Given the description of an element on the screen output the (x, y) to click on. 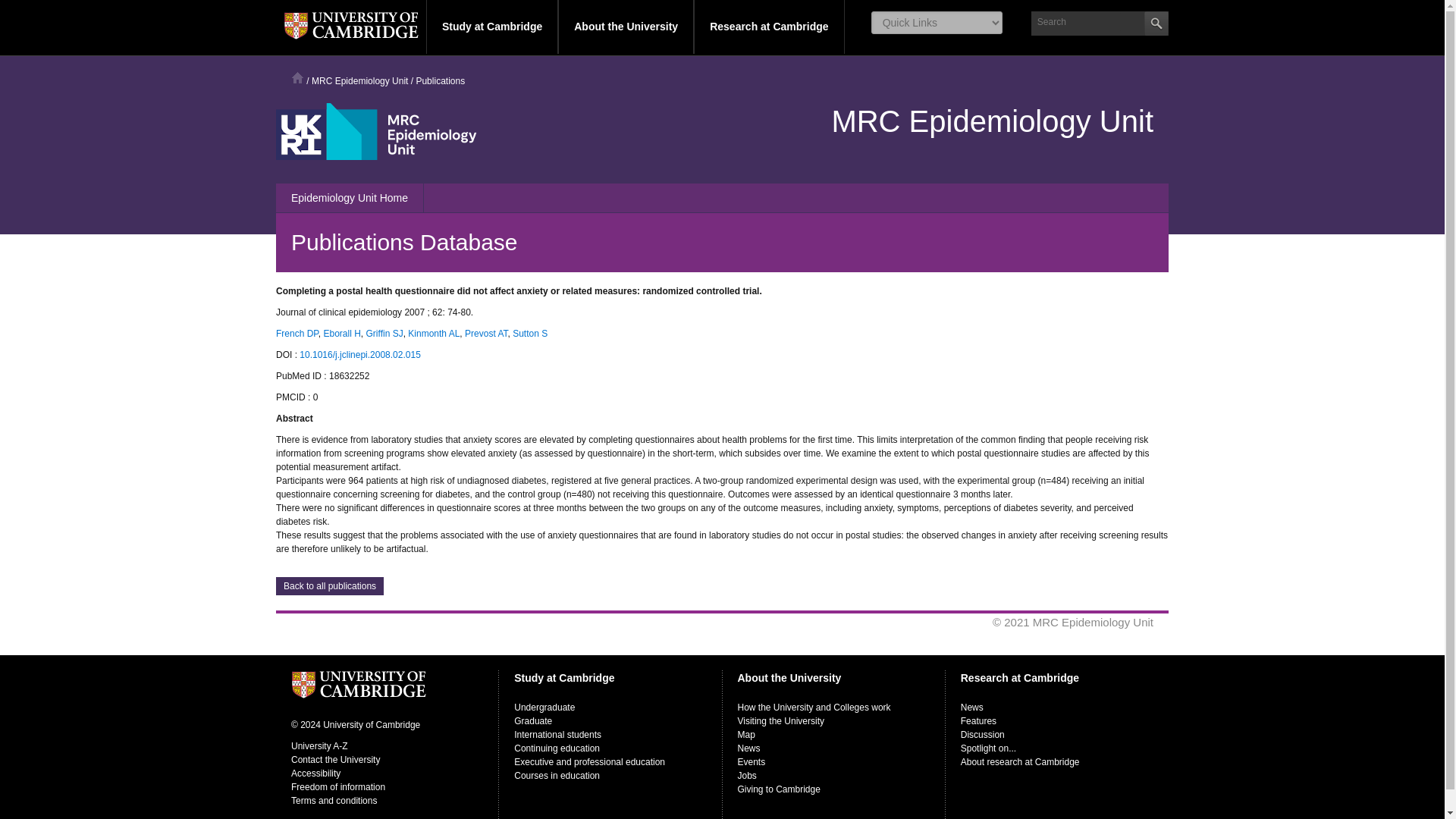
Study at Cambridge (491, 27)
Research at Cambridge (769, 27)
About the University (625, 27)
